Given the description of an element on the screen output the (x, y) to click on. 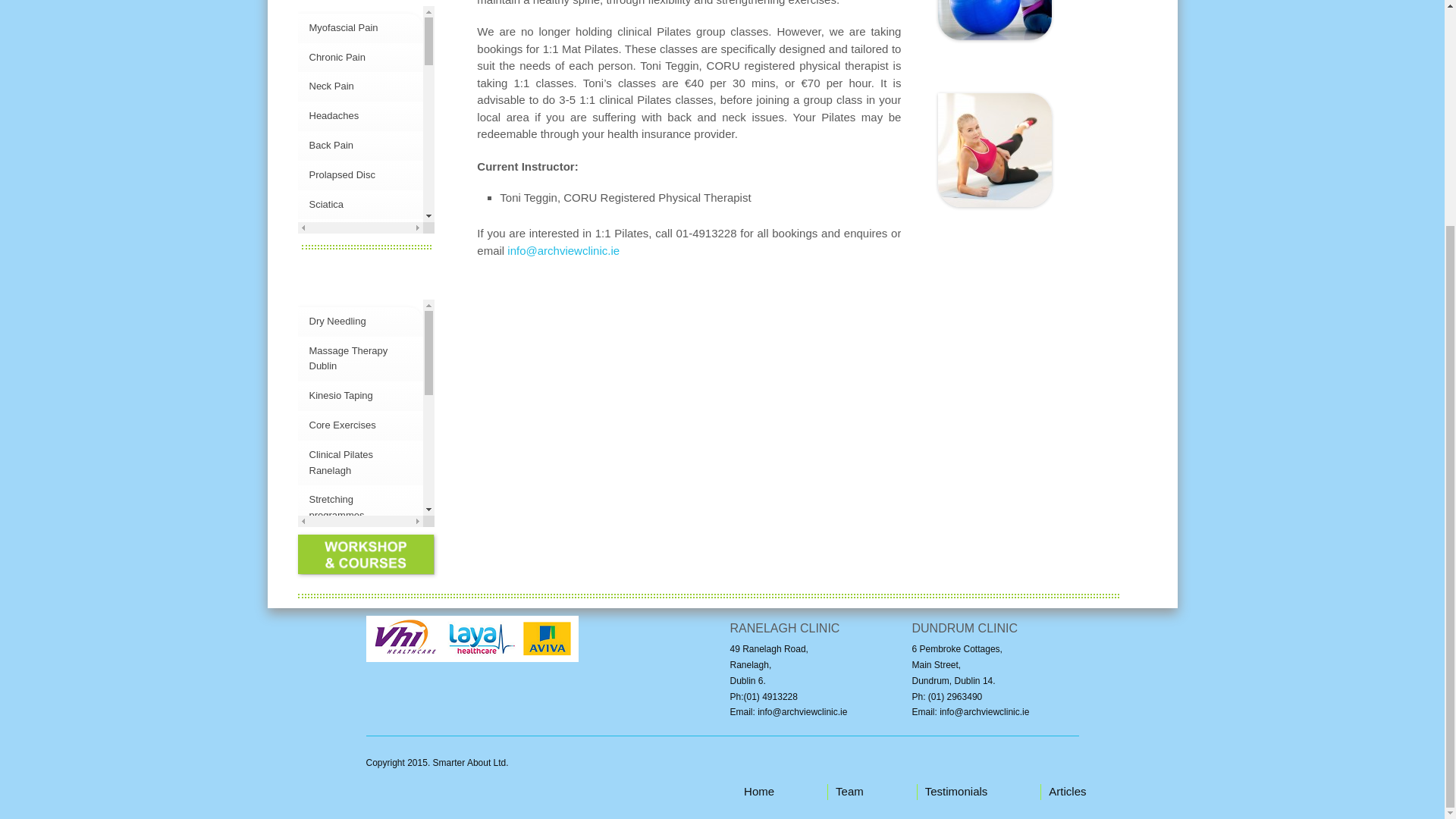
Ligament Sprains (346, 292)
Rotator Cuff Injuries (352, 350)
Sciatica (325, 204)
Shoulder Pain (339, 321)
Sports Injuries (340, 233)
Myofascial Pain (343, 27)
Prolapsed Disc (341, 174)
Chronic Pain (336, 57)
Back Pain (330, 144)
Neck Pain (330, 85)
